Given the description of an element on the screen output the (x, y) to click on. 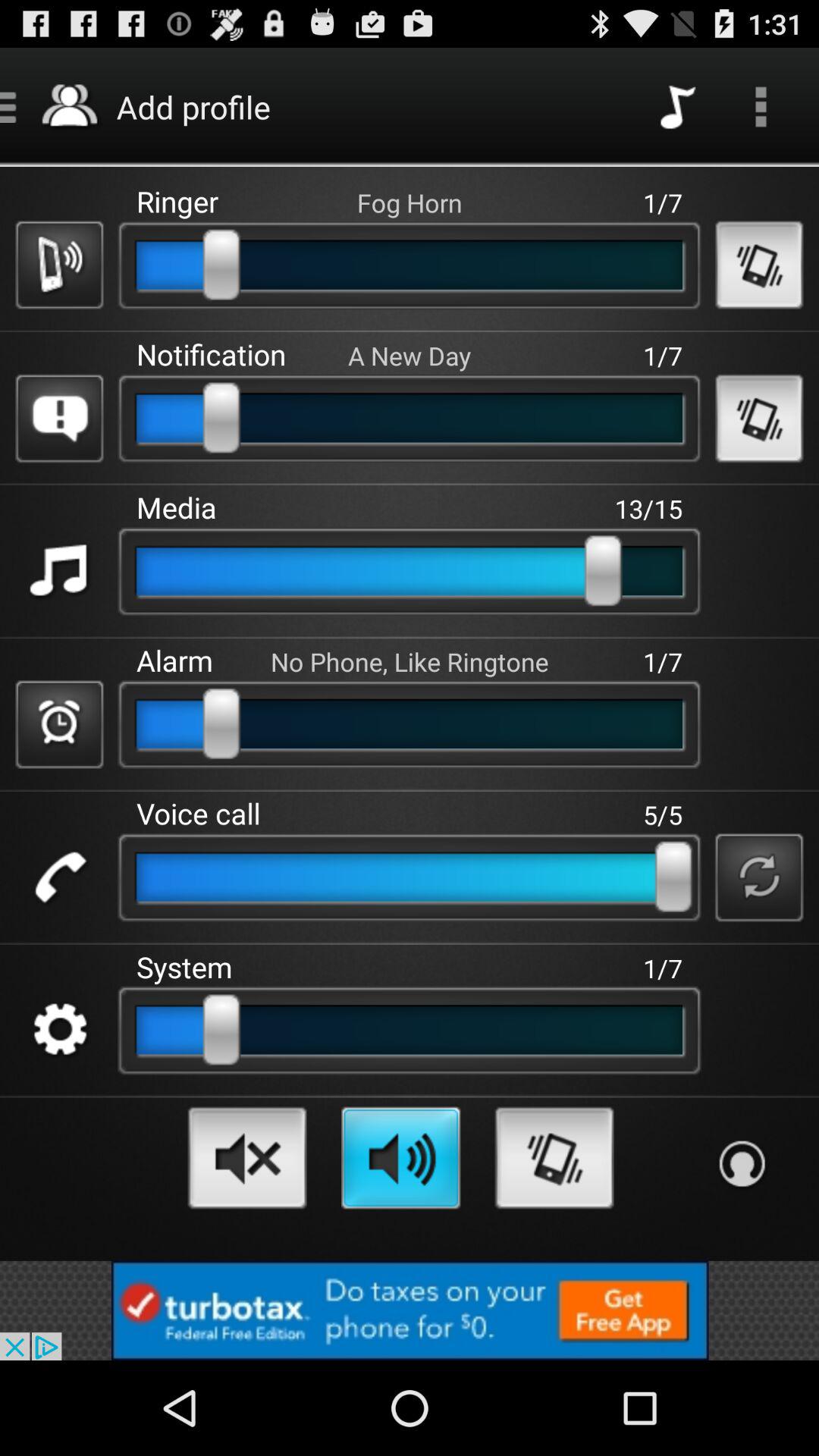
vibrate option (554, 1157)
